Given the description of an element on the screen output the (x, y) to click on. 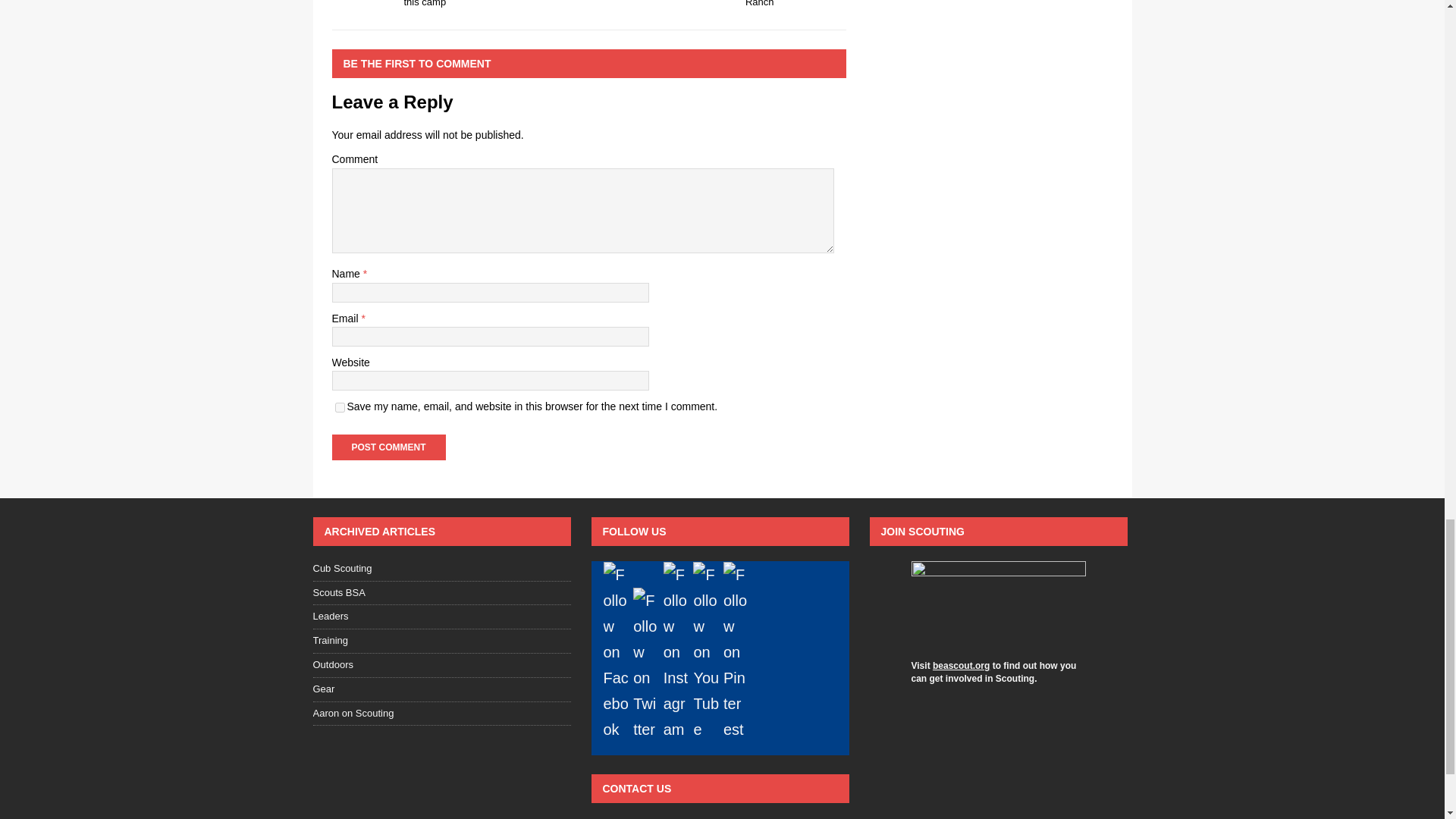
Aaron on Scouting (441, 713)
yes (339, 407)
Prepared for Life logo (457, 5)
Scouts BSA (998, 602)
Post Comment (441, 593)
Post Comment (388, 447)
Gear (388, 447)
Cub Scouting (441, 689)
